Given the description of an element on the screen output the (x, y) to click on. 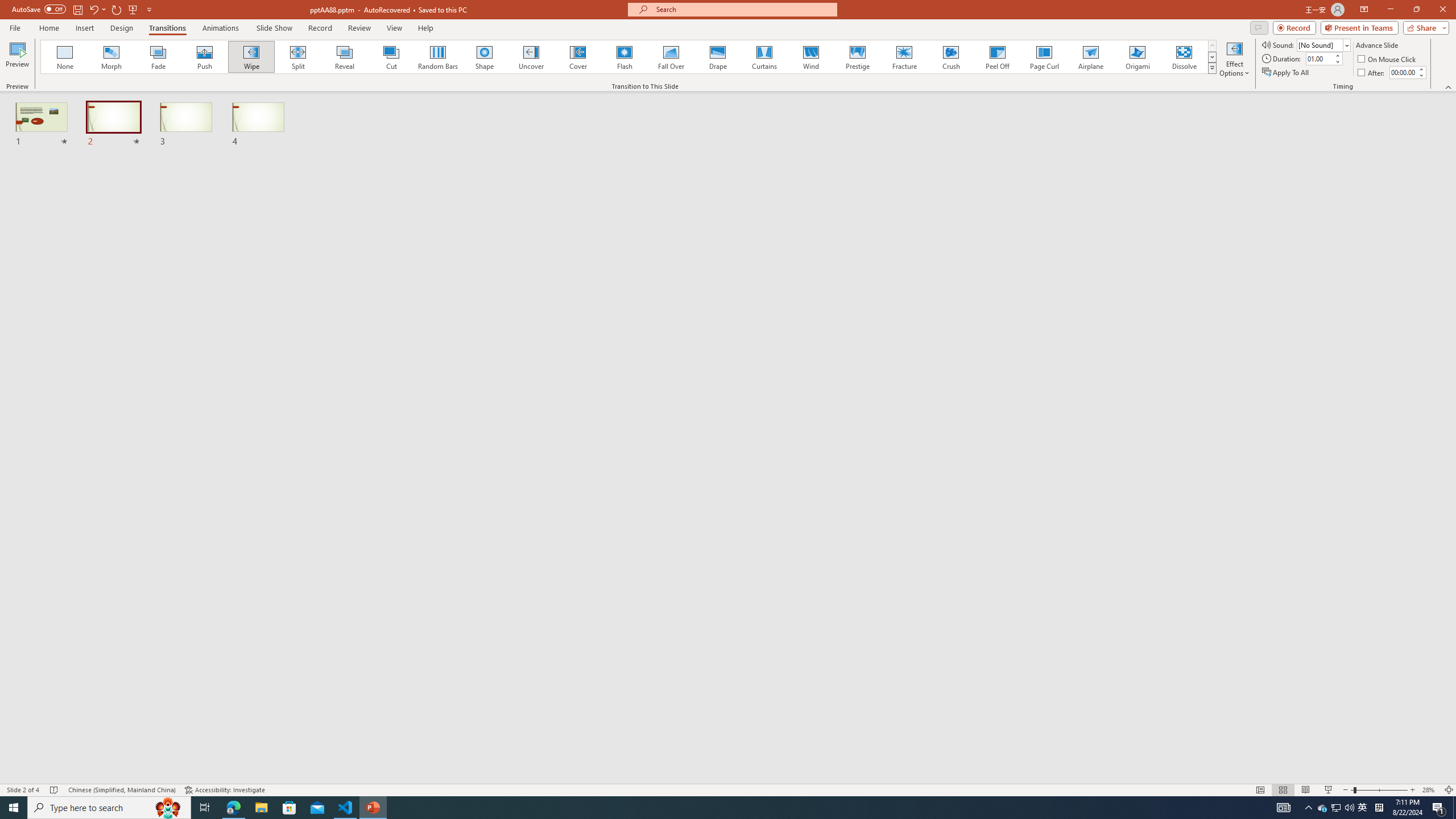
Uncover (531, 56)
Fracture (903, 56)
Sound (1324, 44)
